Given the description of an element on the screen output the (x, y) to click on. 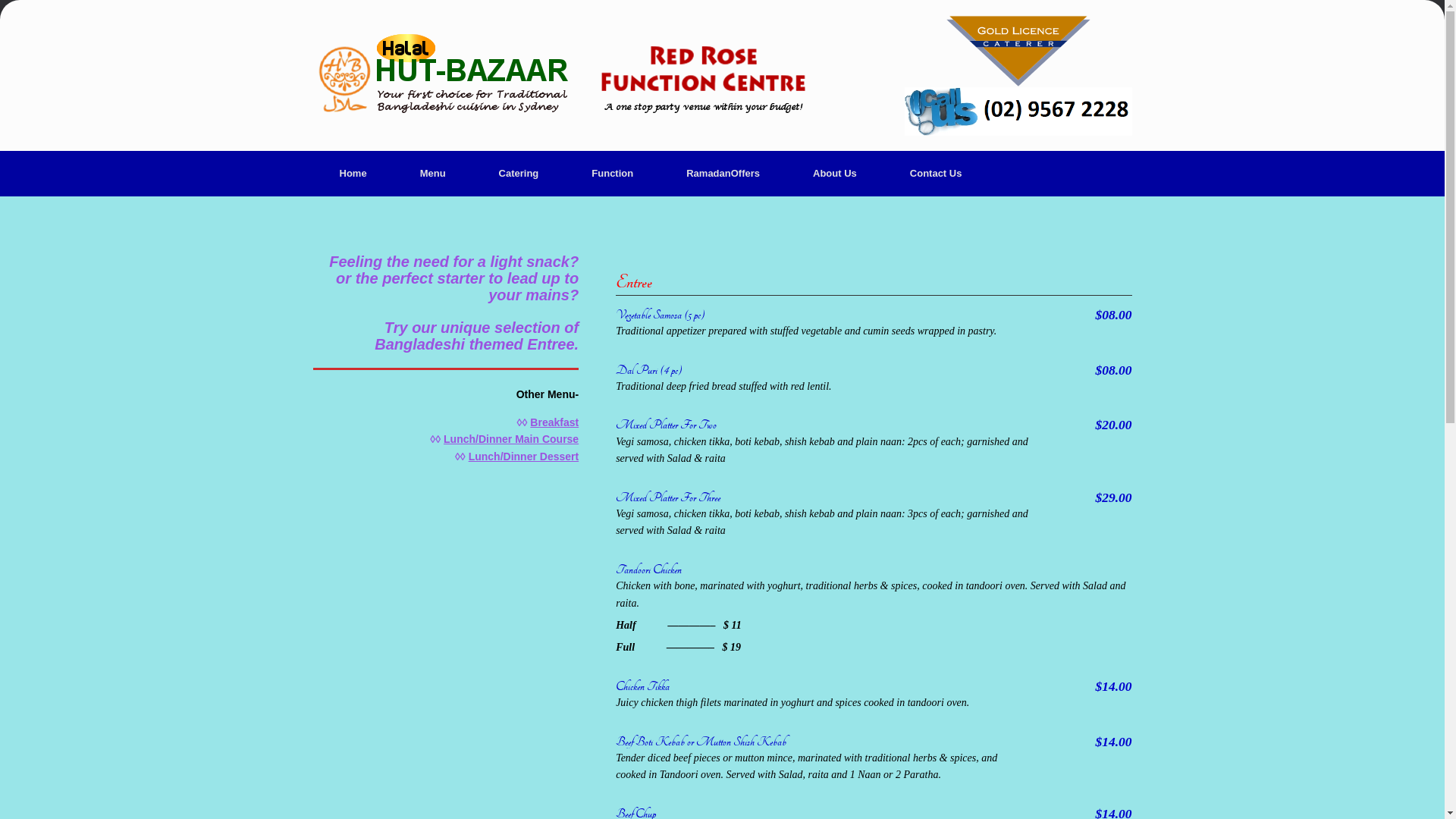
Function Element type: text (611, 173)
Hut-Bazaar Element type: hover (558, 75)
Breakfast Element type: text (554, 422)
Lunch/Dinner Main Course Element type: text (510, 439)
Home Element type: text (352, 173)
Lunch/Dinner Dessert Element type: text (523, 456)
Menu Element type: text (432, 173)
Contact Us Element type: text (935, 173)
Catering Element type: text (518, 173)
RamadanOffers Element type: text (722, 173)
About Us Element type: text (834, 173)
